Given the description of an element on the screen output the (x, y) to click on. 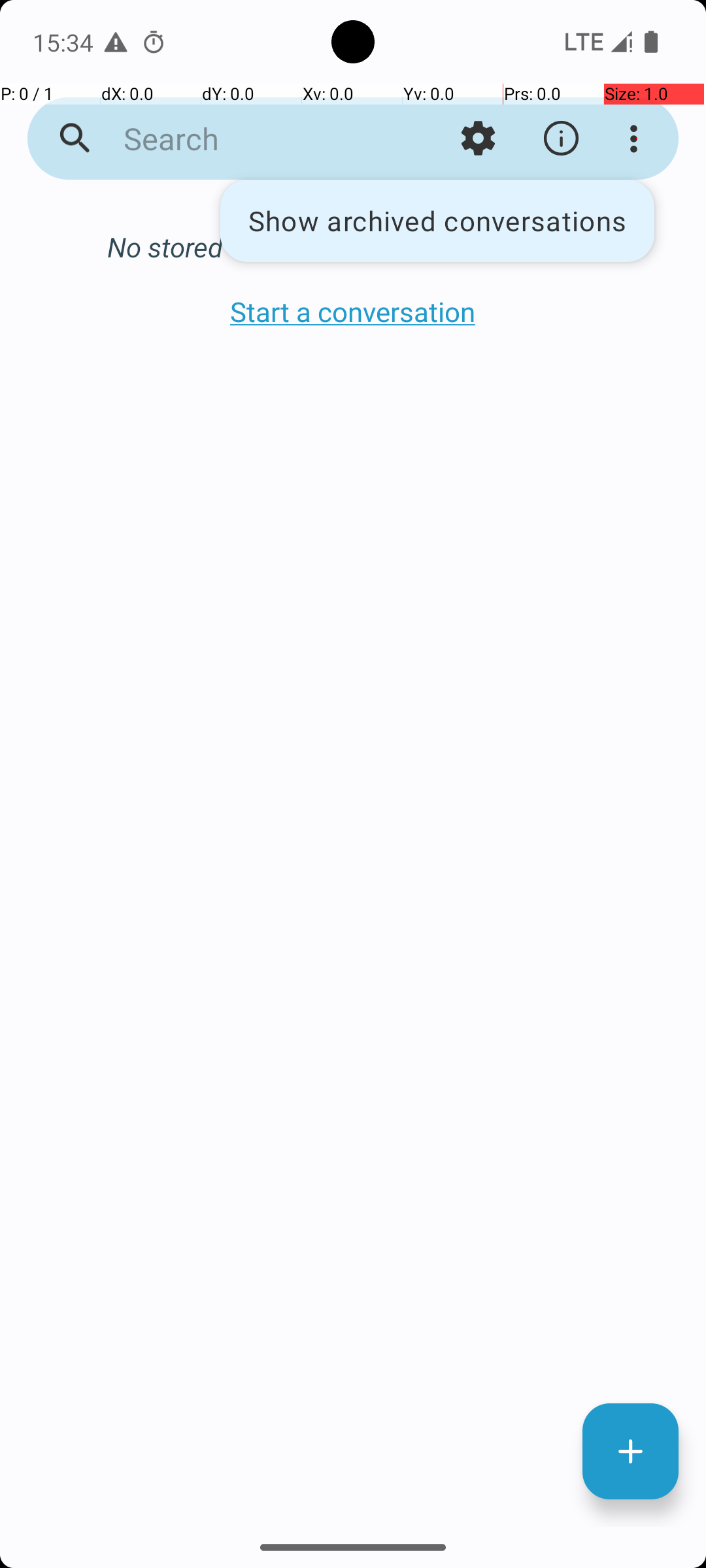
Show archived conversations Element type: android.widget.TextView (436, 220)
